Given the description of an element on the screen output the (x, y) to click on. 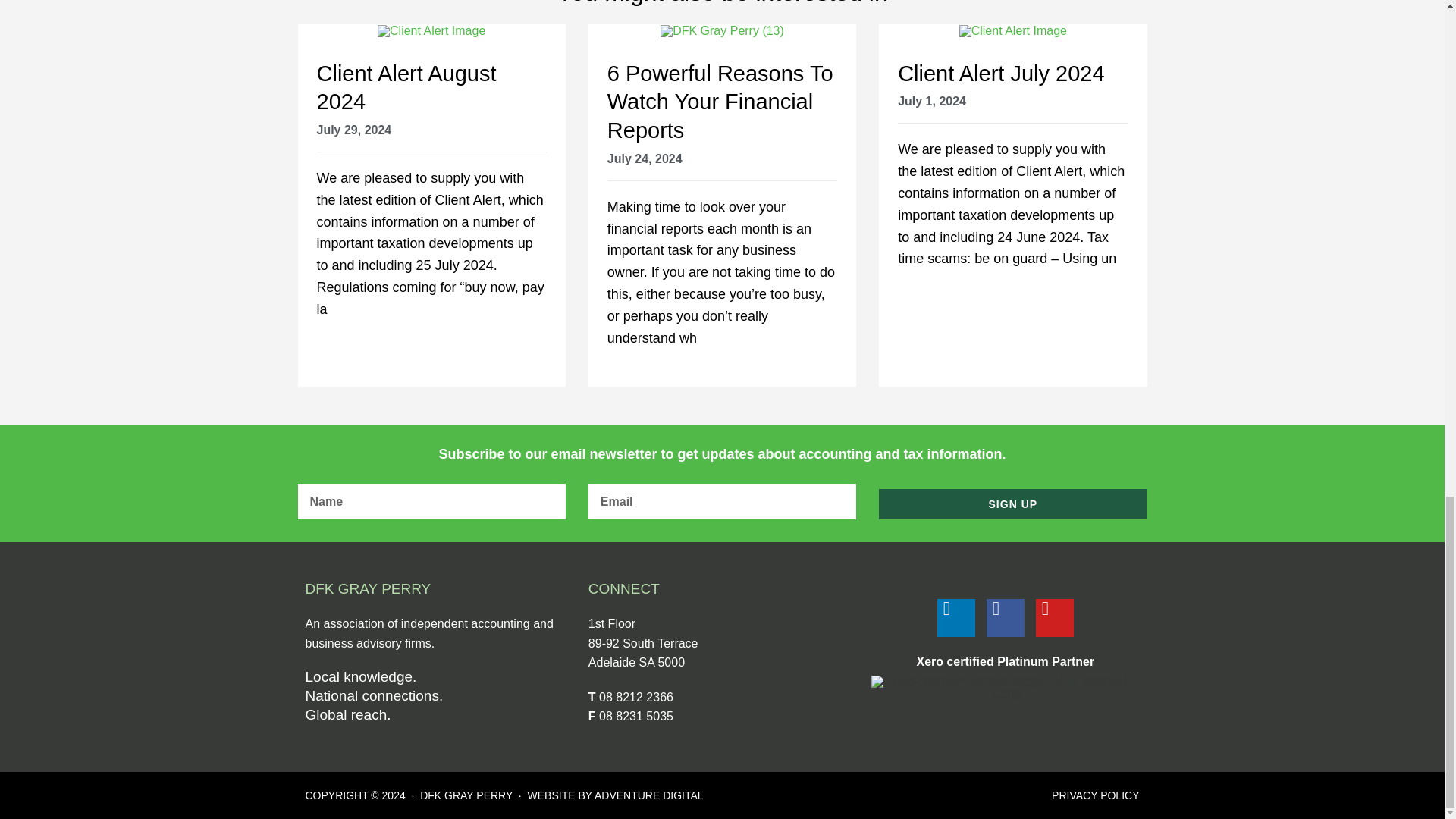
Client Alert Image (1013, 30)
Client Alert Image (430, 30)
